Given the description of an element on the screen output the (x, y) to click on. 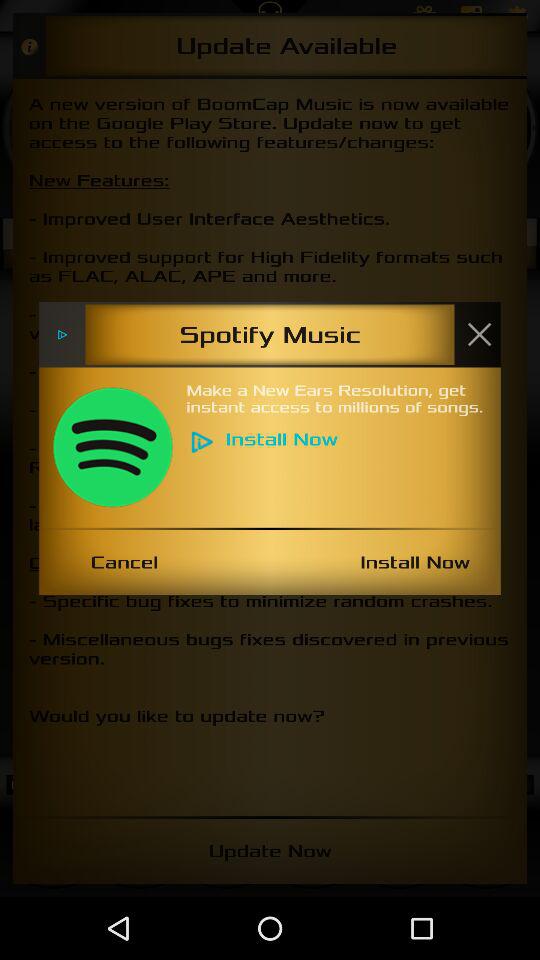
close this window (479, 334)
